Given the description of an element on the screen output the (x, y) to click on. 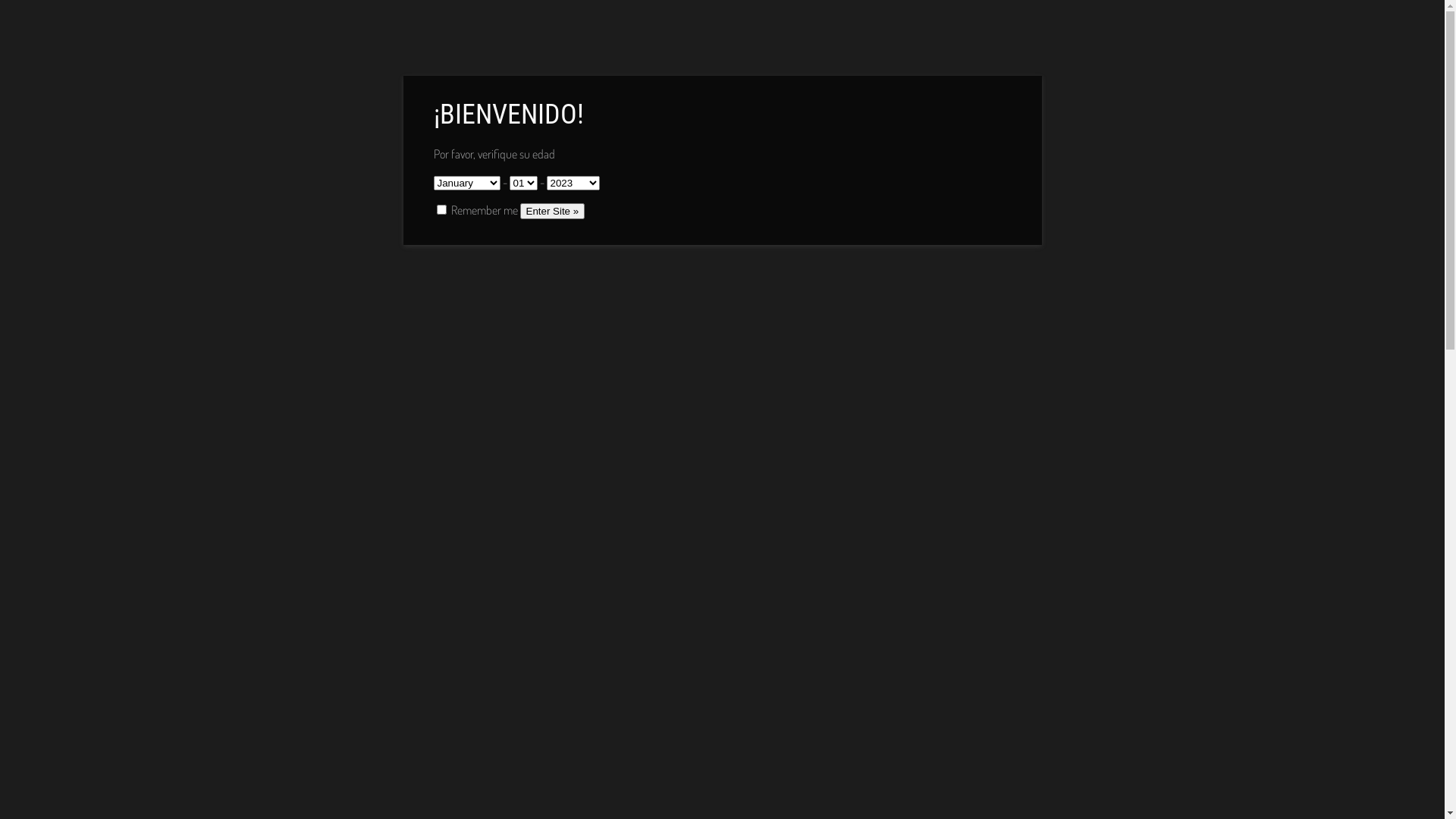
CONTACTO Element type: text (834, 30)
PRODUCTO Element type: text (610, 30)
